Given the description of an element on the screen output the (x, y) to click on. 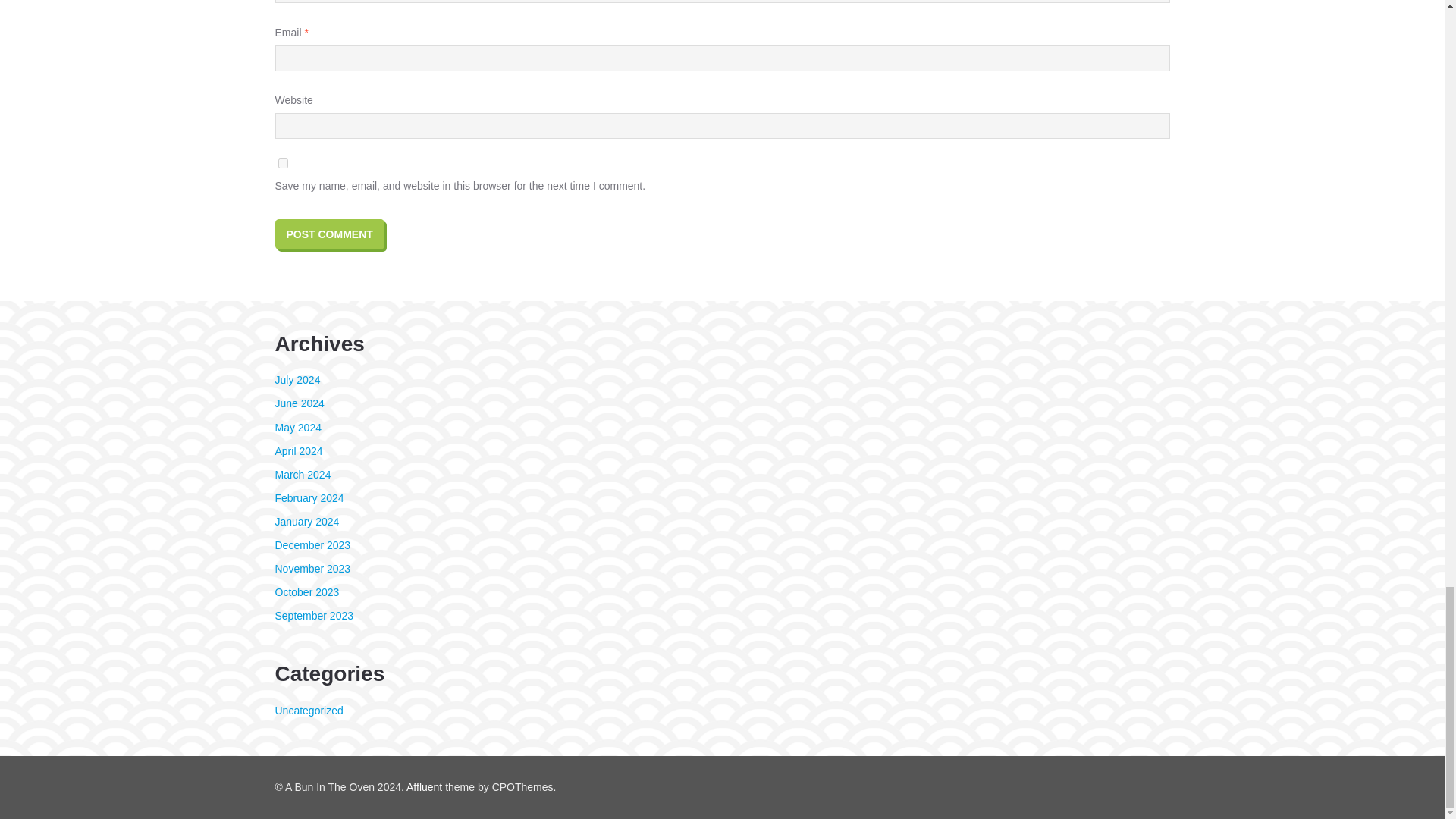
Uncategorized (308, 710)
May 2024 (297, 426)
June 2024 (299, 403)
December 2023 (312, 544)
September 2023 (314, 615)
Affluent (424, 787)
April 2024 (298, 451)
March 2024 (302, 474)
February 2024 (309, 498)
Post Comment (329, 234)
October 2023 (307, 592)
yes (282, 163)
July 2024 (297, 379)
January 2024 (307, 521)
Post Comment (329, 234)
